Given the description of an element on the screen output the (x, y) to click on. 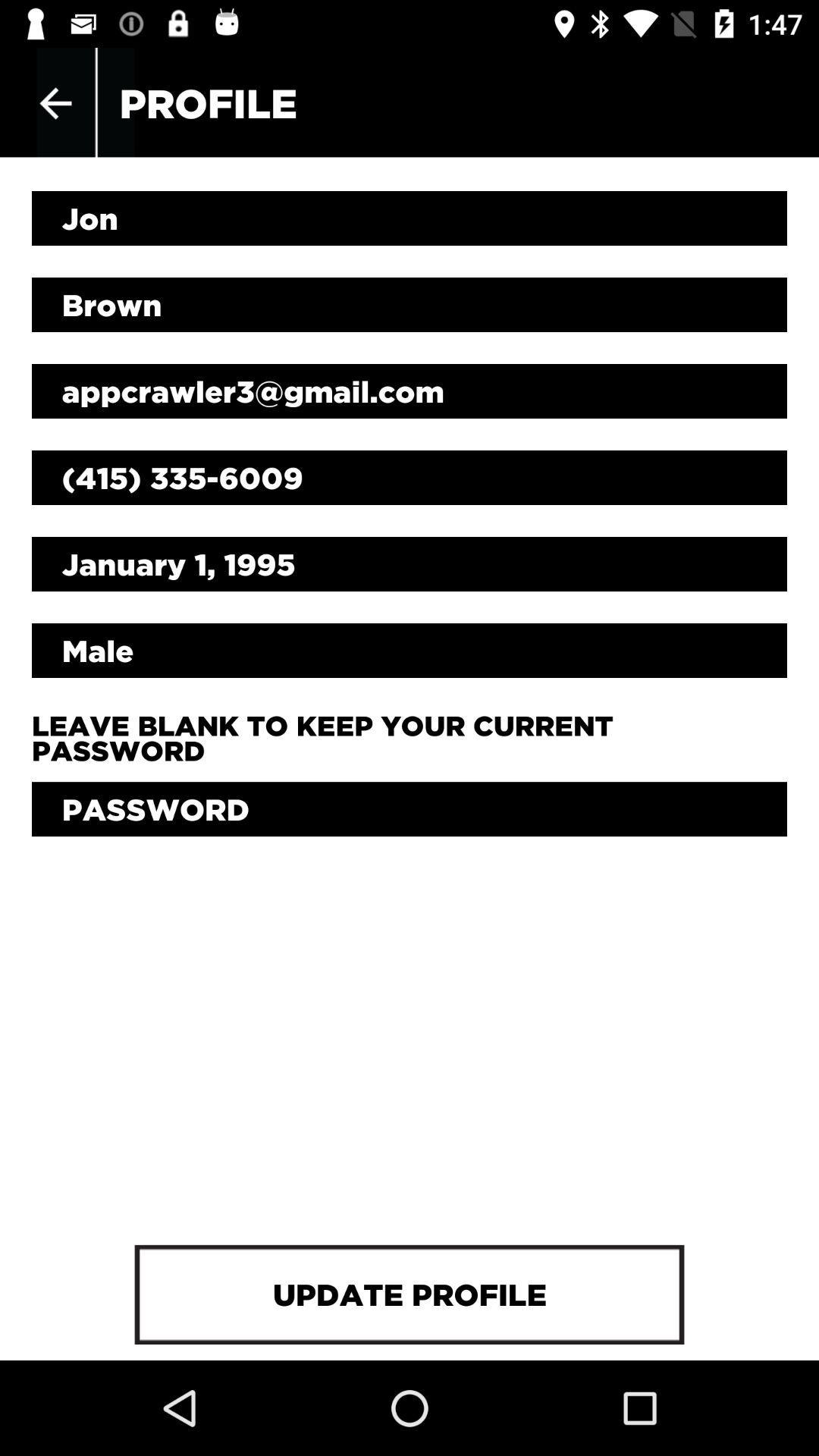
flip until the male (409, 650)
